Given the description of an element on the screen output the (x, y) to click on. 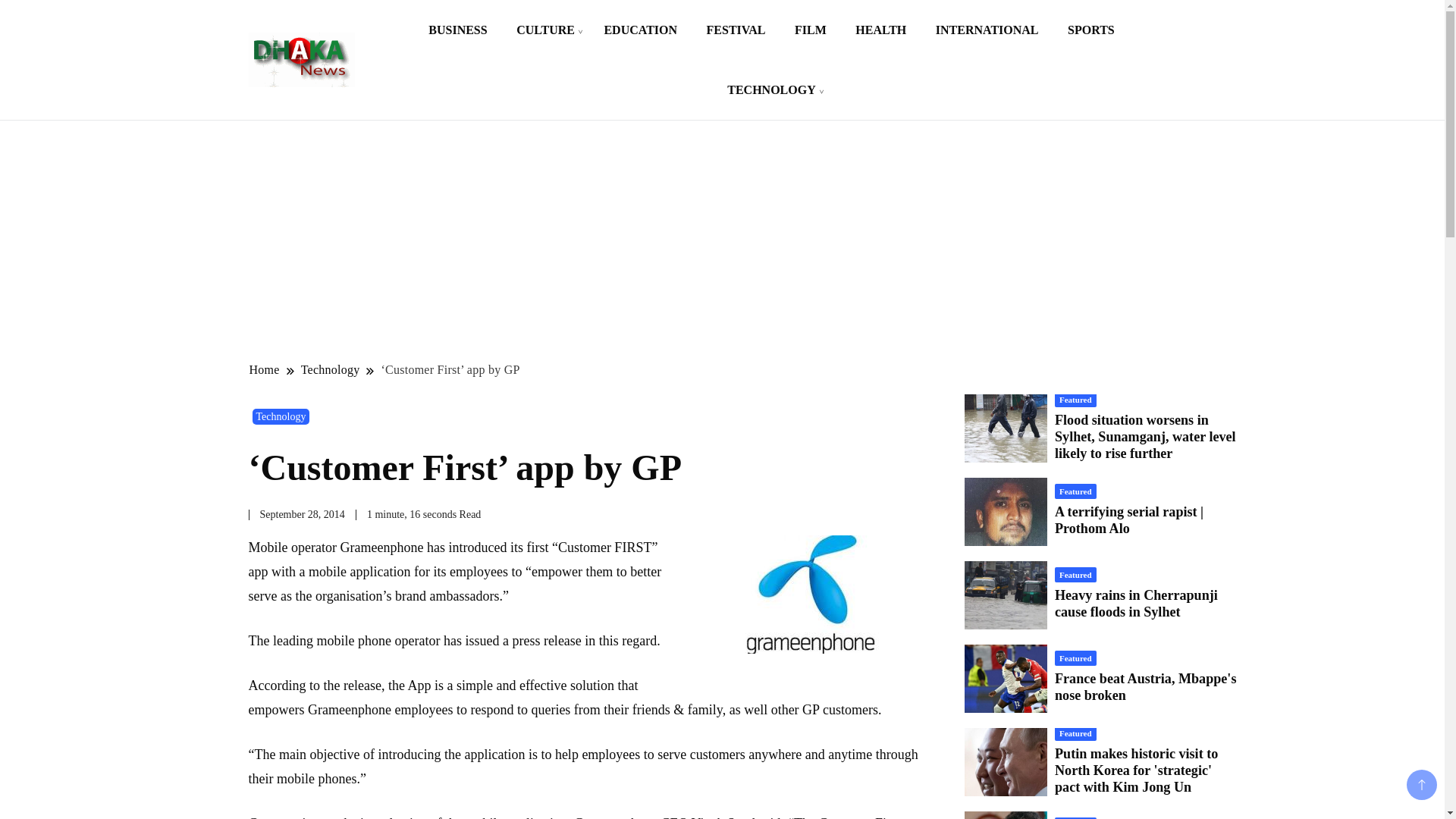
Technology (330, 369)
SPORTS (1090, 29)
EDUCATION (640, 29)
CULTURE (545, 29)
INTERNATIONAL (987, 29)
BUSINESS (456, 29)
Home (264, 369)
FESTIVAL (736, 29)
HEALTH (880, 29)
